Given the description of an element on the screen output the (x, y) to click on. 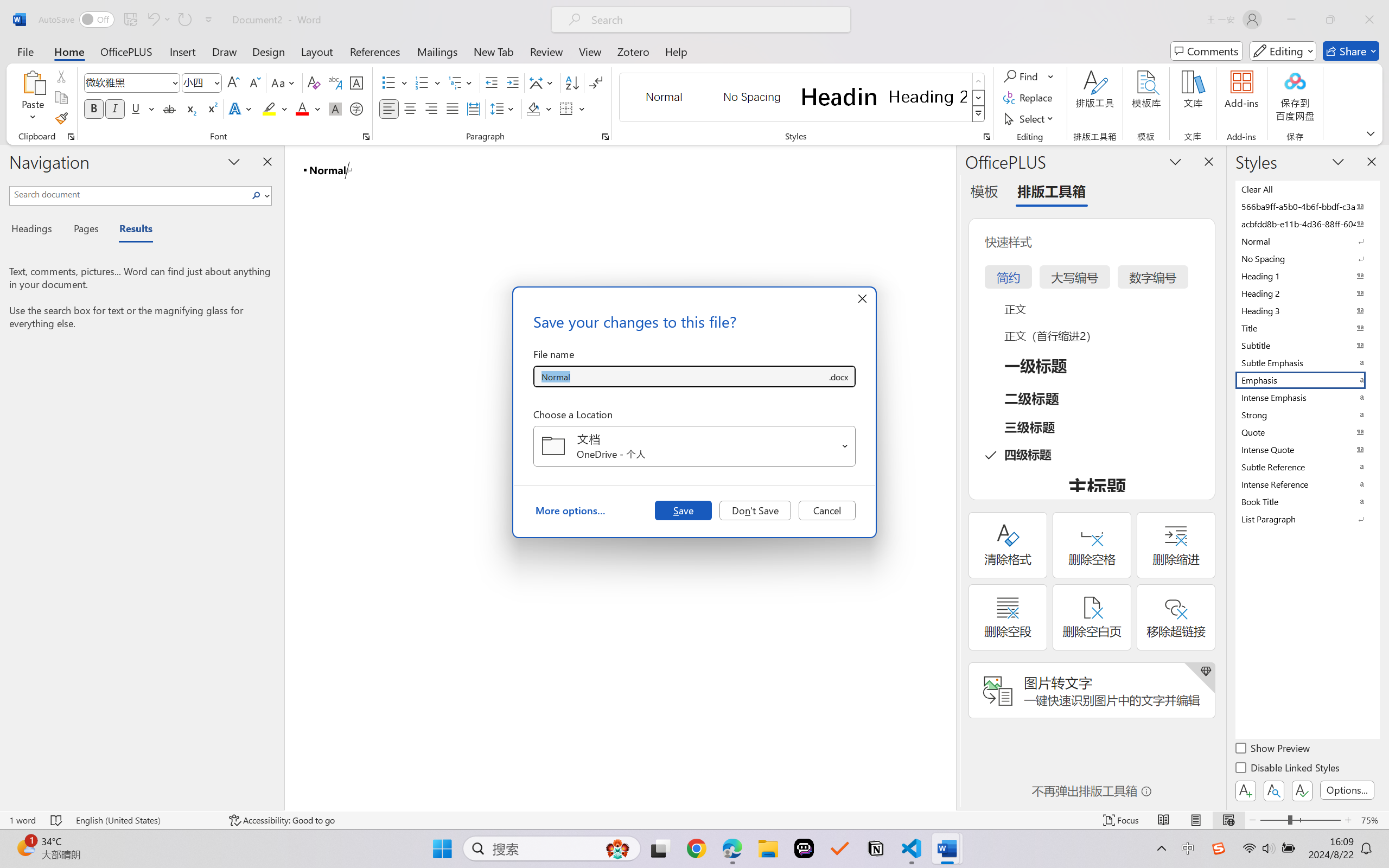
Disable Linked Styles (1287, 769)
Word Count 1 word (21, 819)
Align Right (431, 108)
Search (259, 195)
Ribbon Display Options (1370, 132)
Insert (182, 51)
Superscript (210, 108)
Task Pane Options (1175, 161)
Styles... (986, 136)
Choose a Location (694, 446)
Undo Style (158, 19)
Review (546, 51)
